Given the description of an element on the screen output the (x, y) to click on. 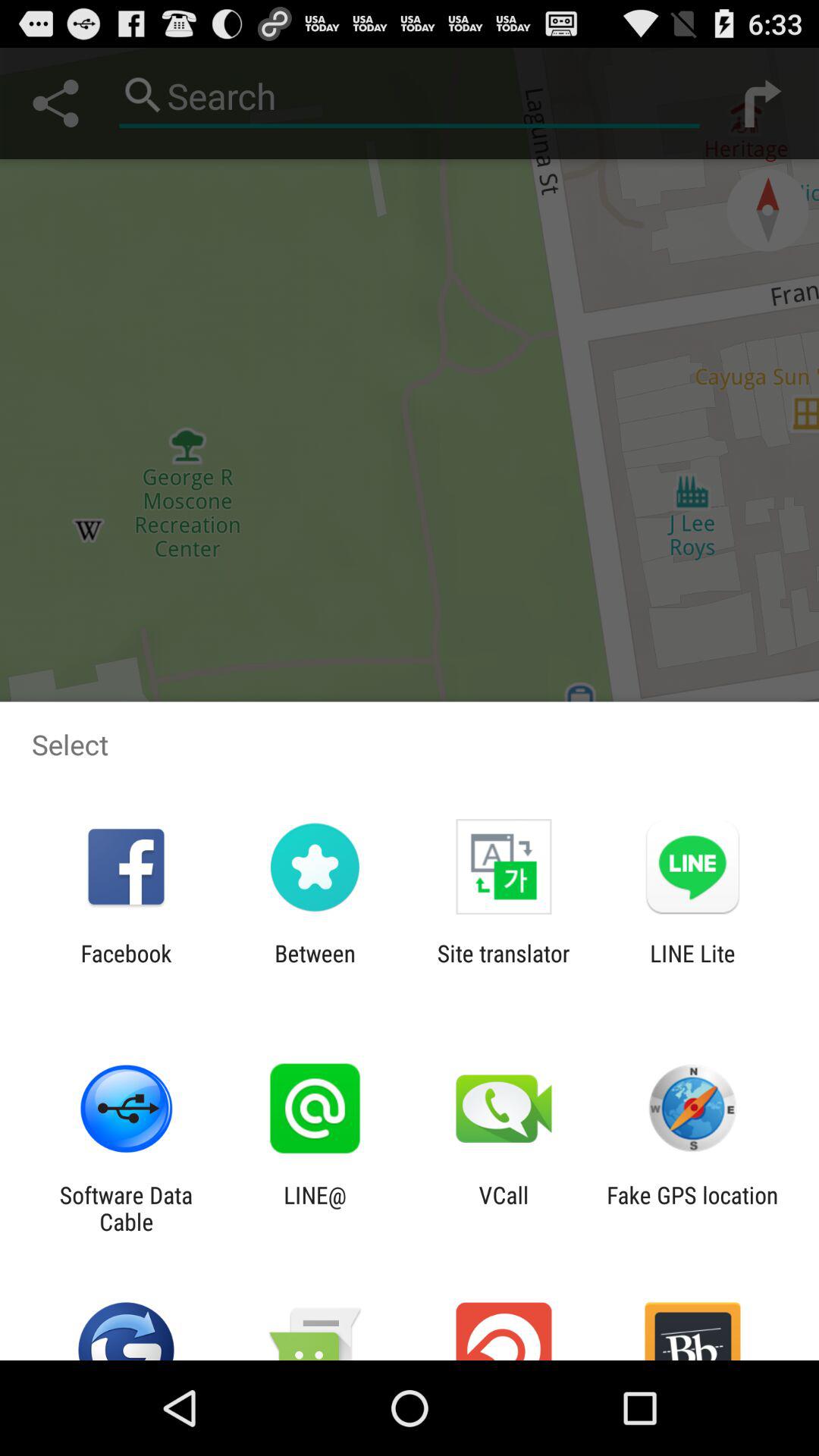
scroll until the between app (314, 966)
